Given the description of an element on the screen output the (x, y) to click on. 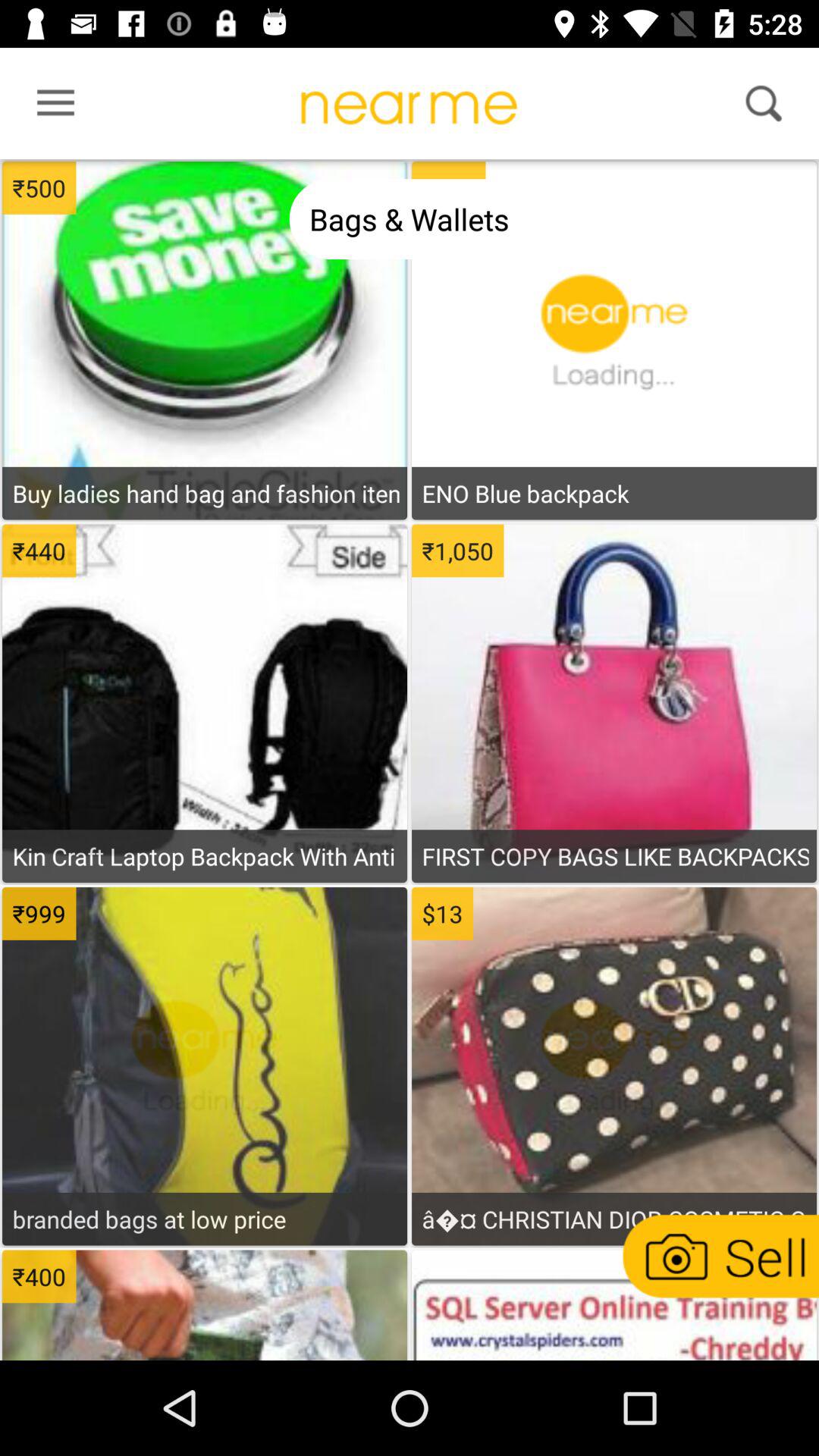
add to shopping cart (613, 545)
